Given the description of an element on the screen output the (x, y) to click on. 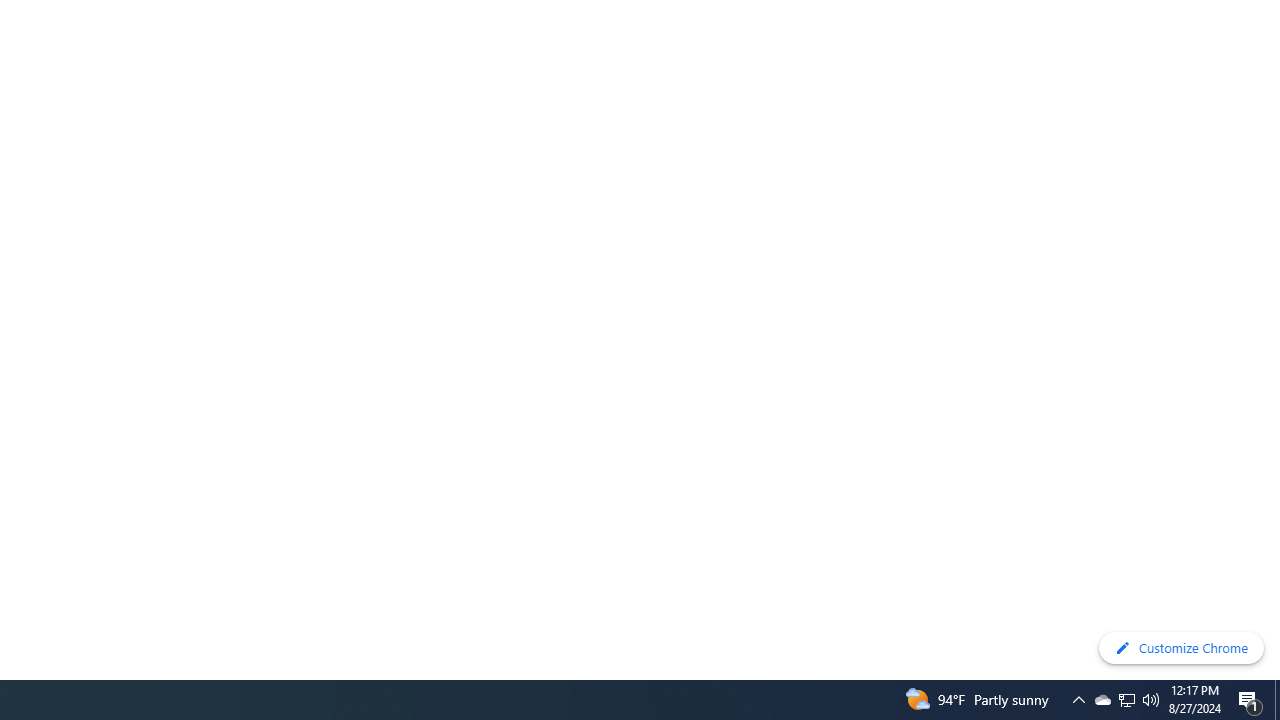
Customize Chrome (1181, 647)
